Given the description of an element on the screen output the (x, y) to click on. 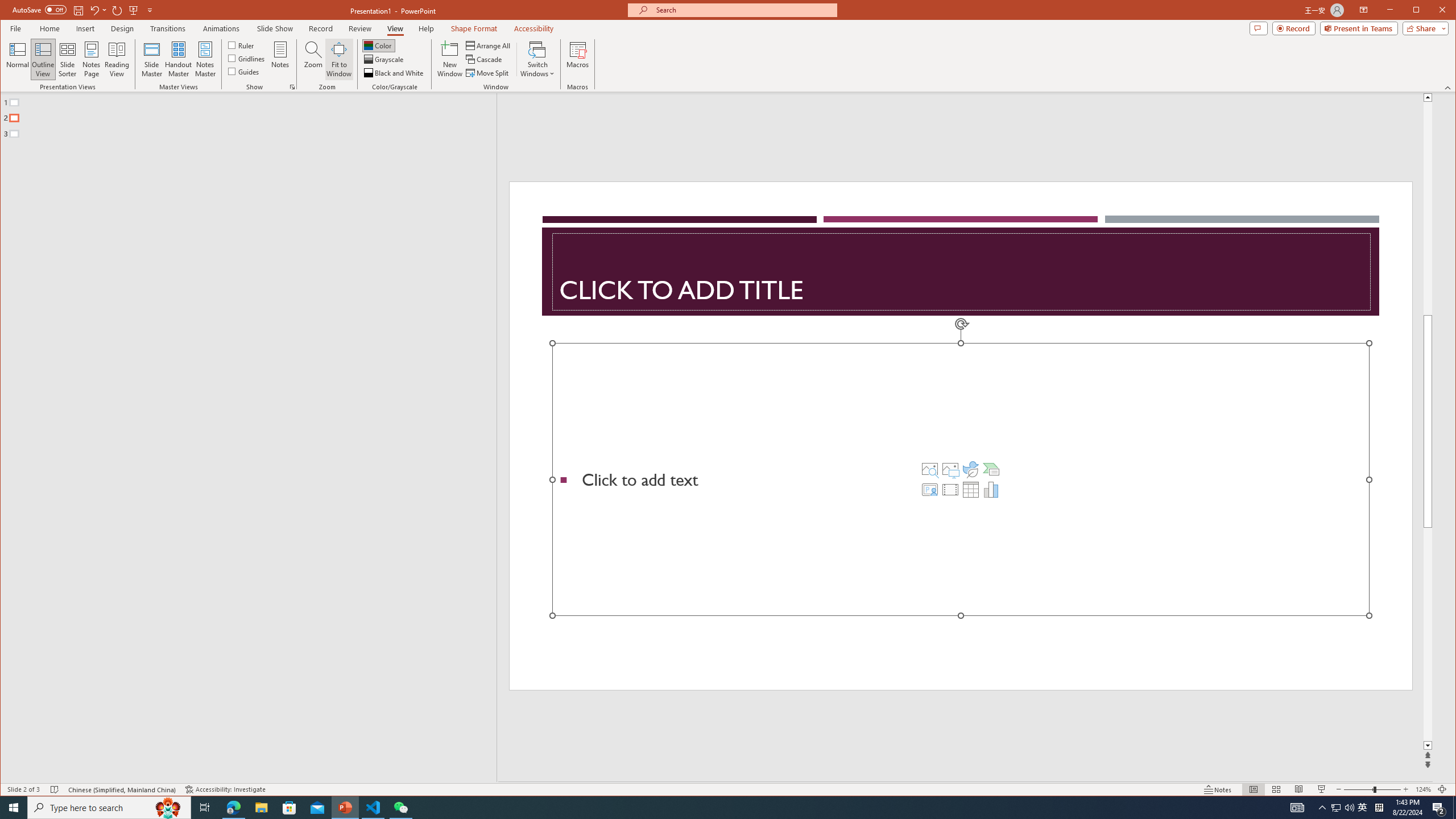
Switch Windows (537, 59)
Black and White (394, 72)
New Window (450, 59)
Insert Table (970, 489)
Insert an Icon (970, 469)
